Given the description of an element on the screen output the (x, y) to click on. 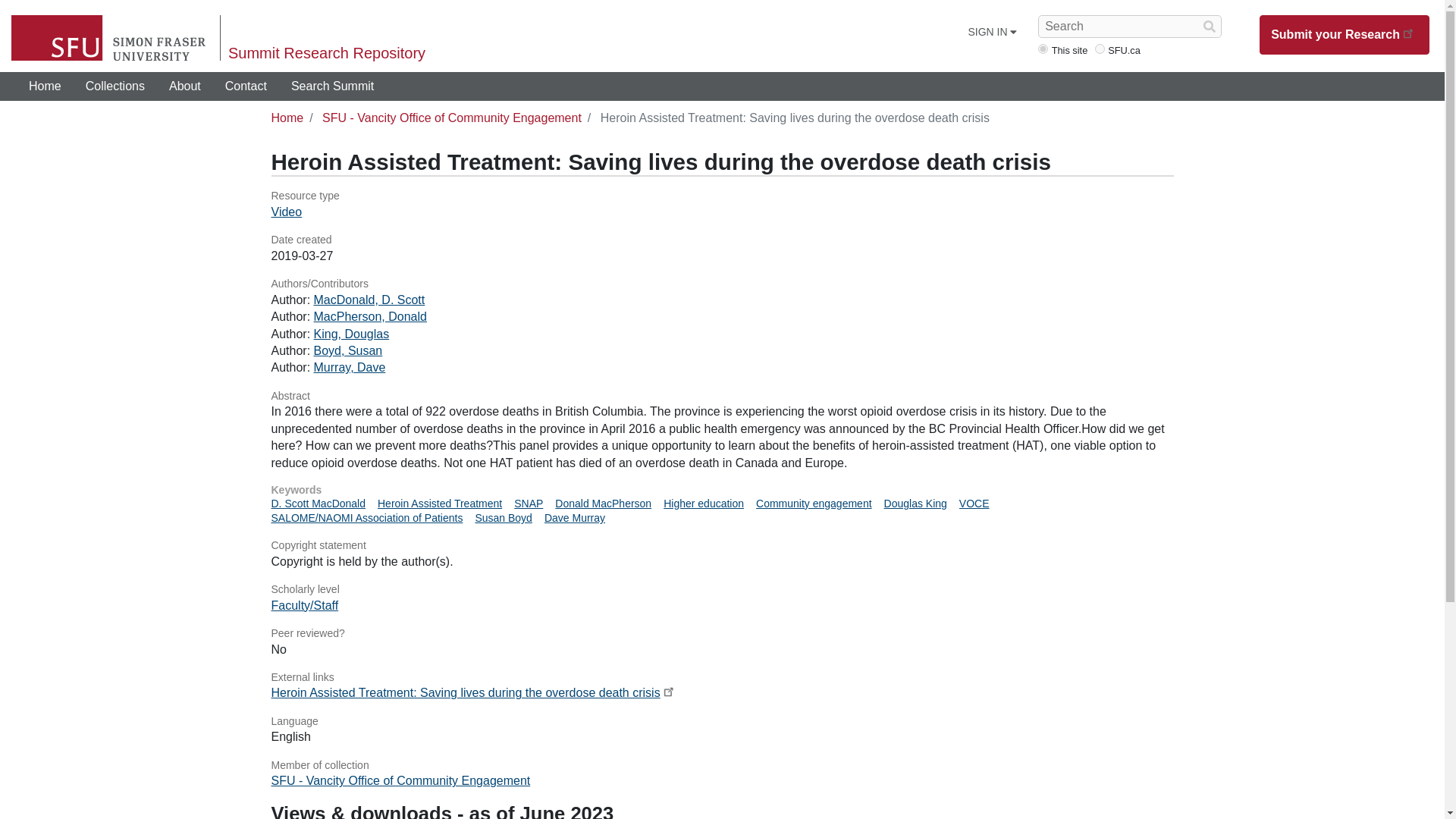
About this site (184, 86)
VOCE (974, 503)
Abstract (721, 396)
Collections (115, 86)
Susan Boyd (503, 517)
Home (287, 117)
D. Scott MacDonald (318, 503)
About (184, 86)
King, Douglas (352, 333)
Search Summit (332, 86)
